Given the description of an element on the screen output the (x, y) to click on. 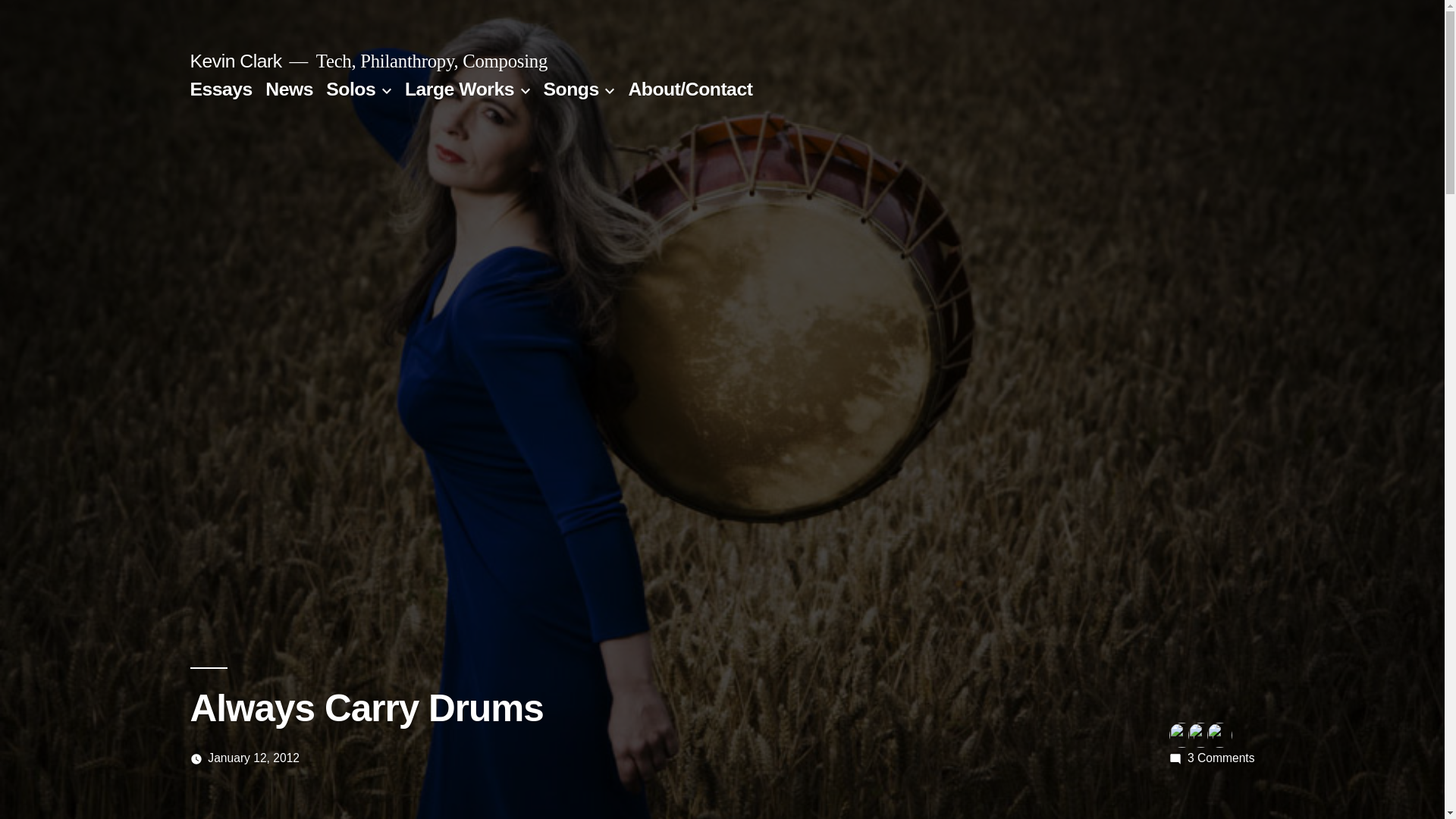
Solos (350, 88)
Kevin Clark (235, 60)
Songs (1221, 757)
January 12, 2012 (570, 88)
Essays (253, 757)
Large Works (220, 88)
News (458, 88)
